Given the description of an element on the screen output the (x, y) to click on. 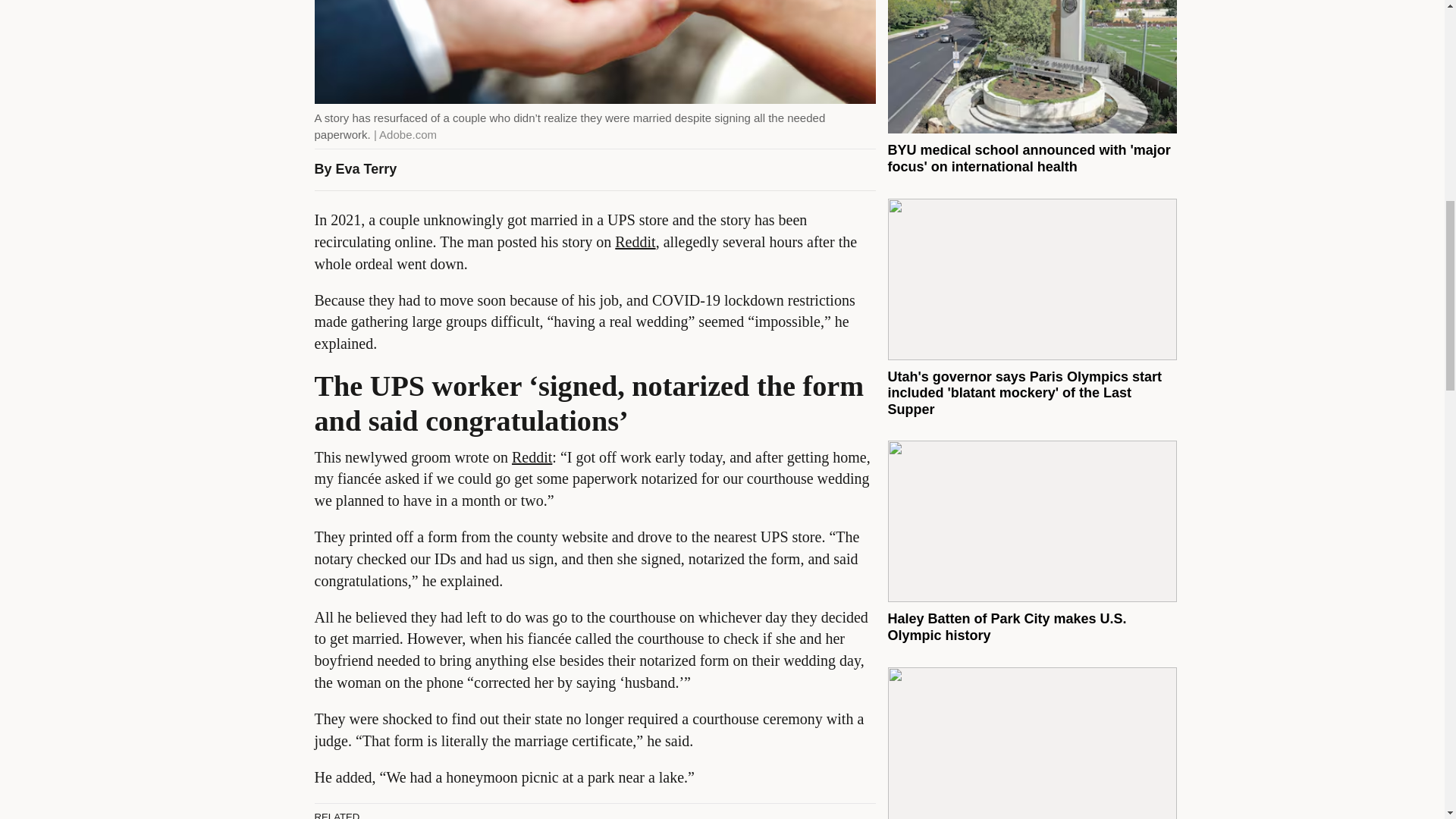
Haley Batten of Park City makes U.S. Olympic history (1005, 626)
Reddit (634, 241)
Reddit (531, 457)
Eva Terry (366, 168)
